Given the description of an element on the screen output the (x, y) to click on. 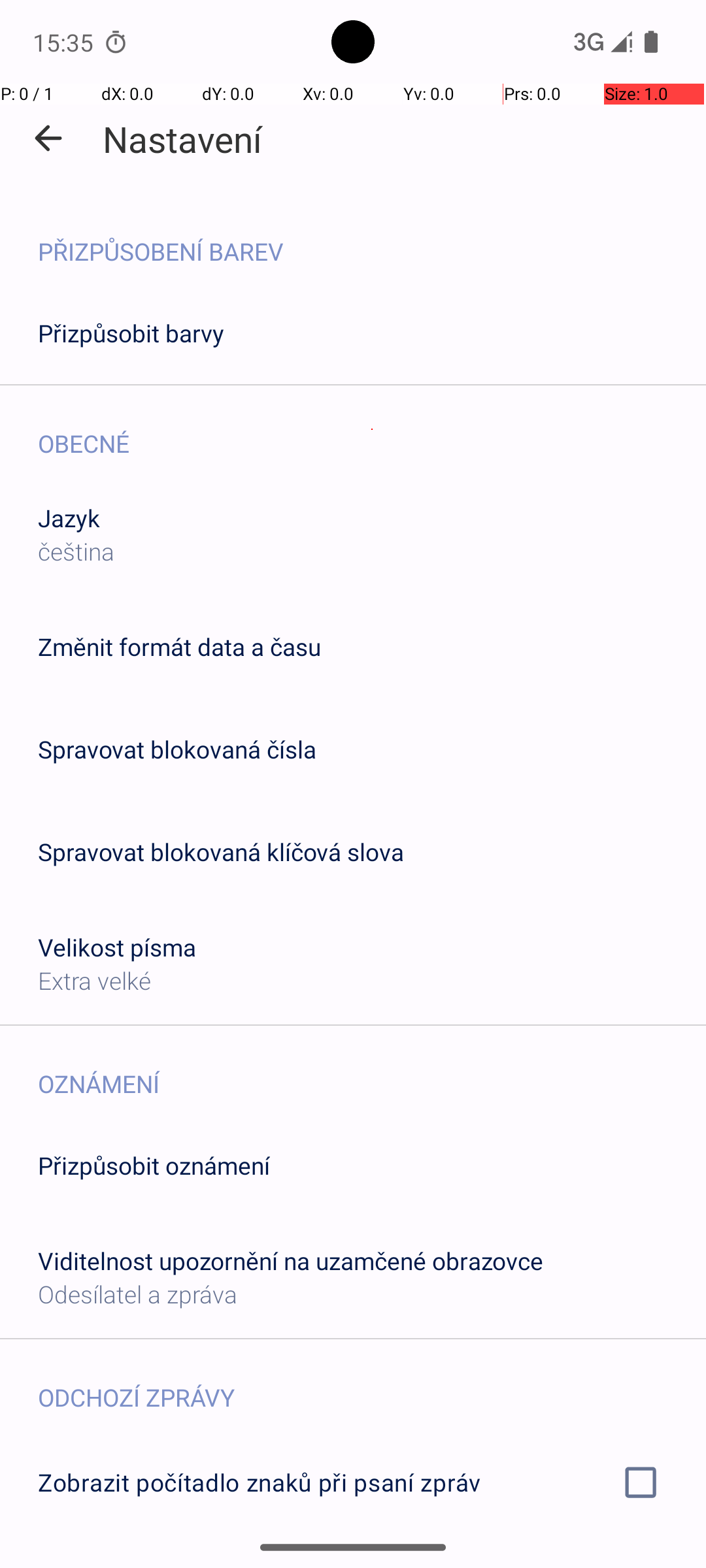
Zpět Element type: android.widget.ImageButton (48, 138)
PŘIZPŮSOBENÍ BAREV Element type: android.widget.TextView (371, 237)
OBECNÉ Element type: android.widget.TextView (371, 429)
OZNÁMENÍ Element type: android.widget.TextView (371, 1069)
ODCHOZÍ ZPRÁVY Element type: android.widget.TextView (371, 1383)
Přizpůsobit barvy Element type: android.widget.TextView (130, 332)
Jazyk Element type: android.widget.TextView (68, 517)
čeština Element type: android.widget.TextView (75, 550)
Změnit formát data a času Element type: android.widget.TextView (178, 646)
Spravovat blokovaná čísla Element type: android.widget.TextView (176, 748)
Spravovat blokovaná klíčová slova Element type: android.widget.TextView (220, 851)
Velikost písma Element type: android.widget.TextView (116, 946)
Extra velké Element type: android.widget.TextView (94, 979)
Přizpůsobit oznámení Element type: android.widget.TextView (153, 1164)
Viditelnost upozornění na uzamčené obrazovce Element type: android.widget.TextView (290, 1260)
Odesílatel a zpráva Element type: android.widget.TextView (137, 1293)
Zobrazit počítadlo znaků při psaní zpráv Element type: android.widget.CheckBox (352, 1482)
Odstranit diakritiku při odesílání zprávy Element type: android.widget.CheckBox (352, 1559)
